Given the description of an element on the screen output the (x, y) to click on. 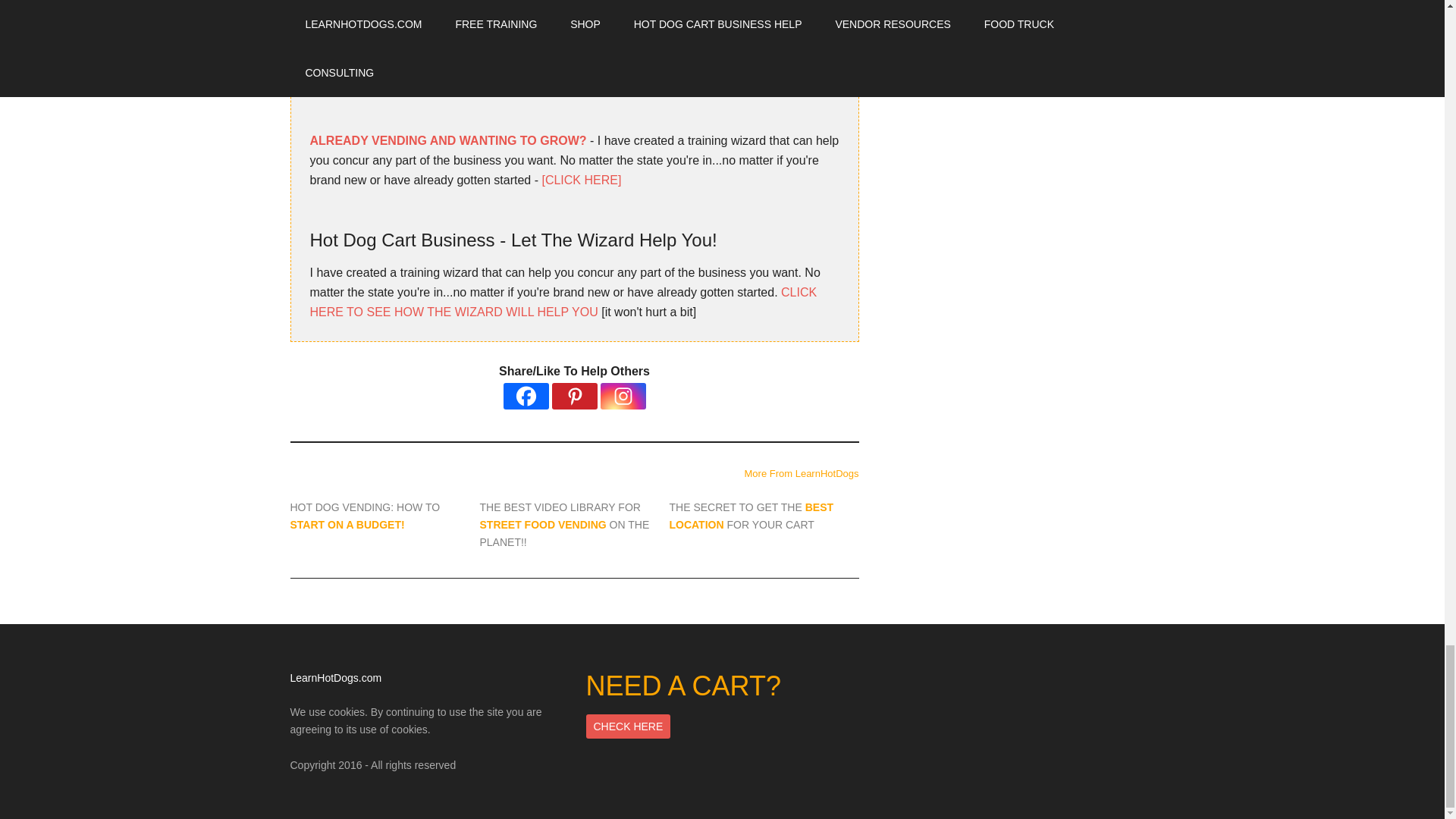
Facebook (525, 396)
Pinterest (573, 396)
Instagram (622, 396)
